Given the description of an element on the screen output the (x, y) to click on. 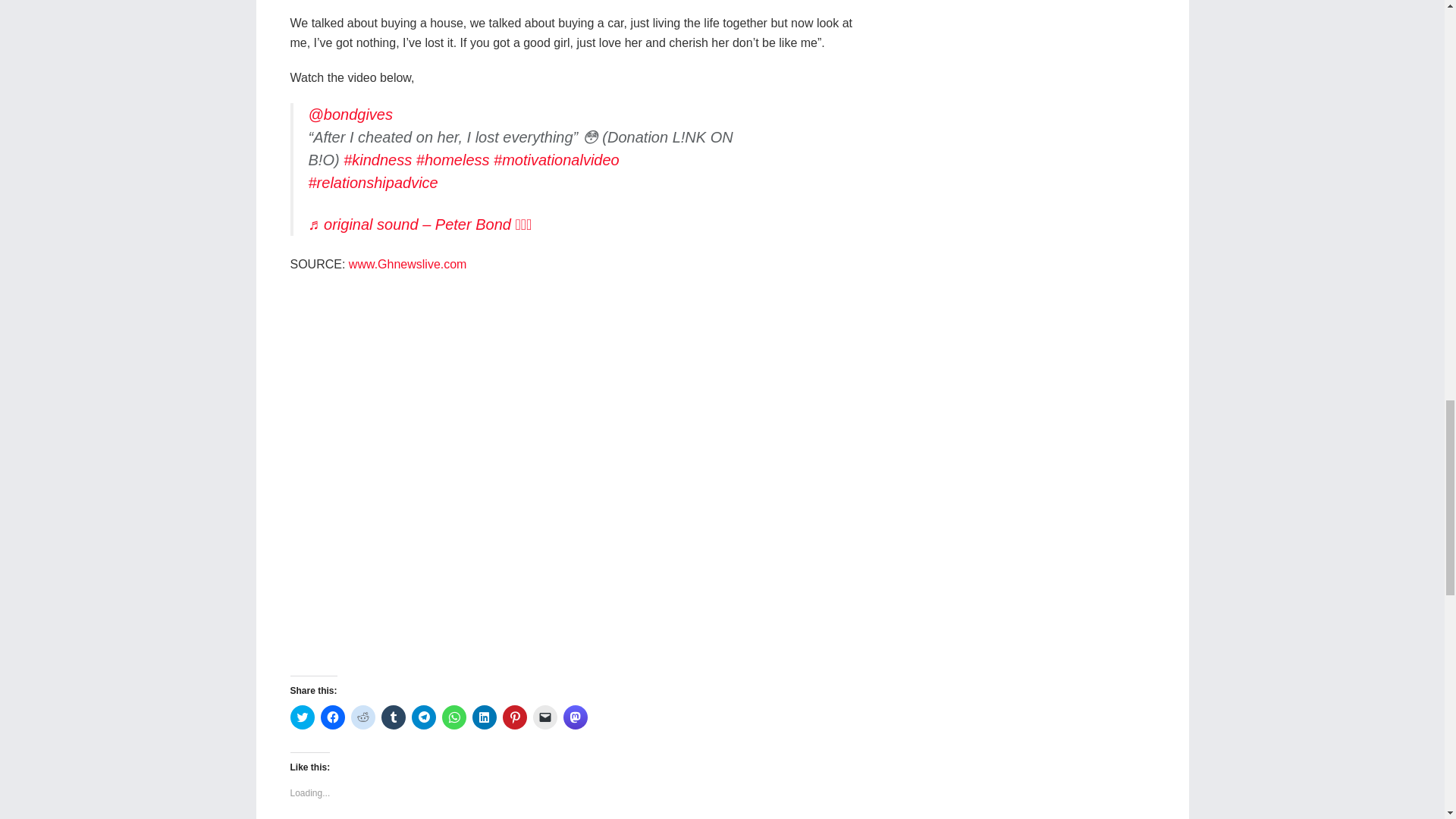
Click to share on WhatsApp (453, 717)
relationshipadvice (372, 182)
Click to share on Facebook (331, 717)
motivationalvideo (556, 159)
Click to share on Telegram (422, 717)
kindness (377, 159)
homeless (452, 159)
Click to share on Tumblr (392, 717)
Click to share on Twitter (301, 717)
Click to share on Reddit (362, 717)
